Given the description of an element on the screen output the (x, y) to click on. 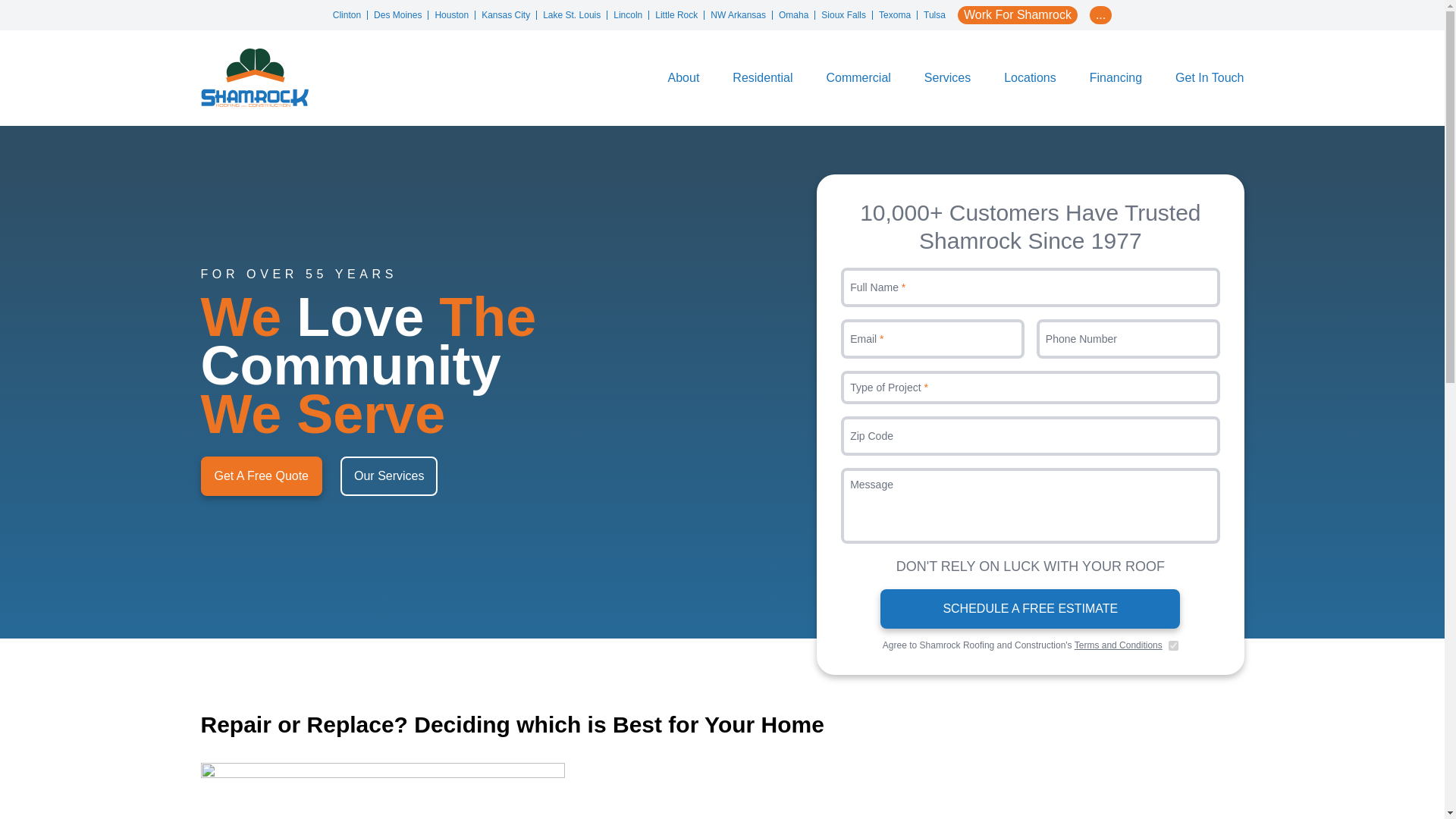
Lincoln (630, 14)
... (1100, 14)
Commercial (857, 77)
Omaha (796, 14)
Services (947, 77)
NW Arkansas (741, 14)
Work For Shamrock (1017, 14)
Des Moines (401, 14)
Lake St. Louis (575, 14)
Yes (1173, 645)
